Given the description of an element on the screen output the (x, y) to click on. 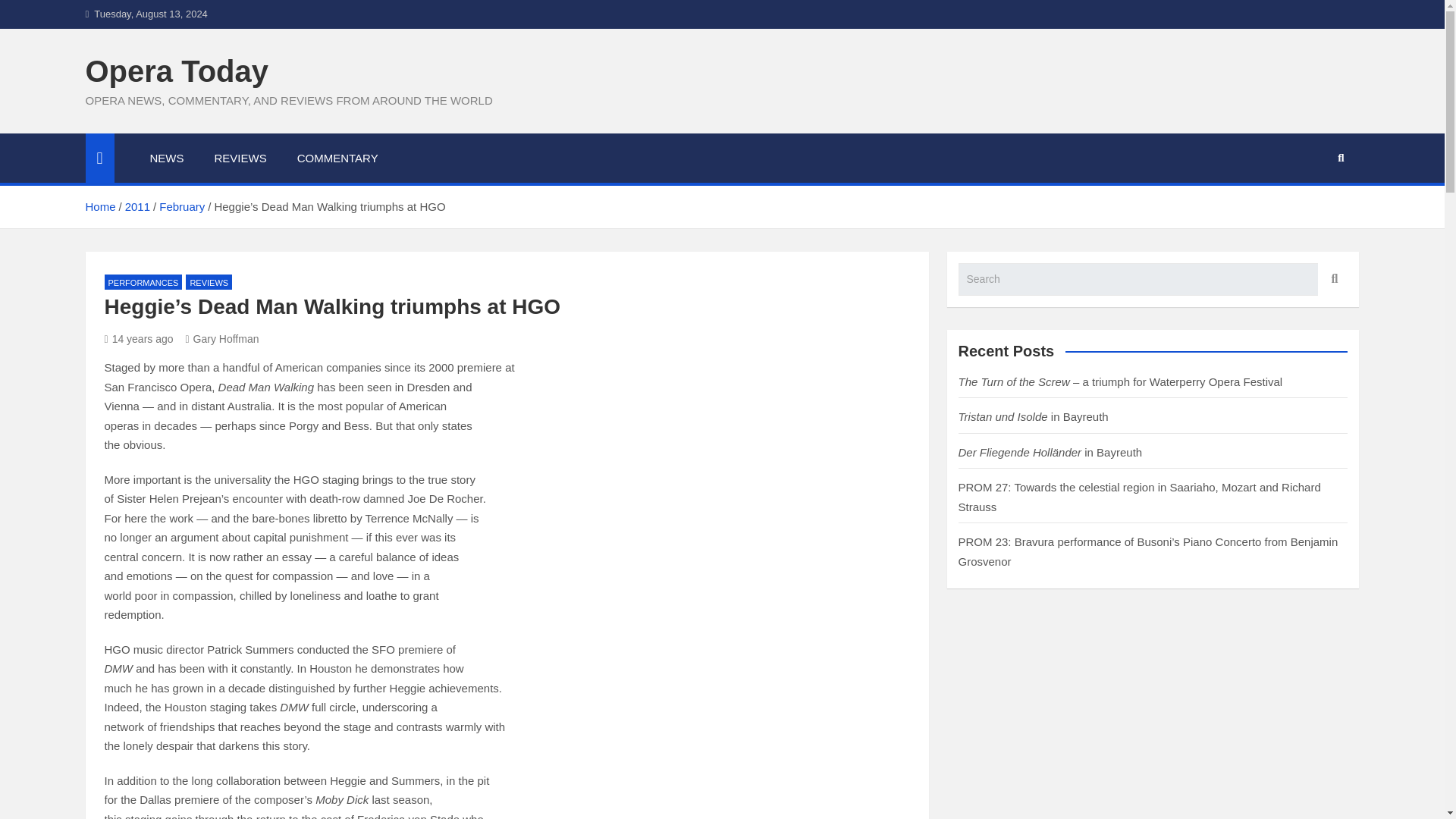
REVIEWS (239, 158)
PERFORMANCES (143, 282)
Gary Hoffman (221, 338)
REVIEWS (208, 282)
Opera Today (175, 70)
14 years ago (138, 338)
Search (1332, 278)
Tristan und Isolde in Bayreuth (1033, 416)
February (181, 205)
Home (99, 205)
